Given the description of an element on the screen output the (x, y) to click on. 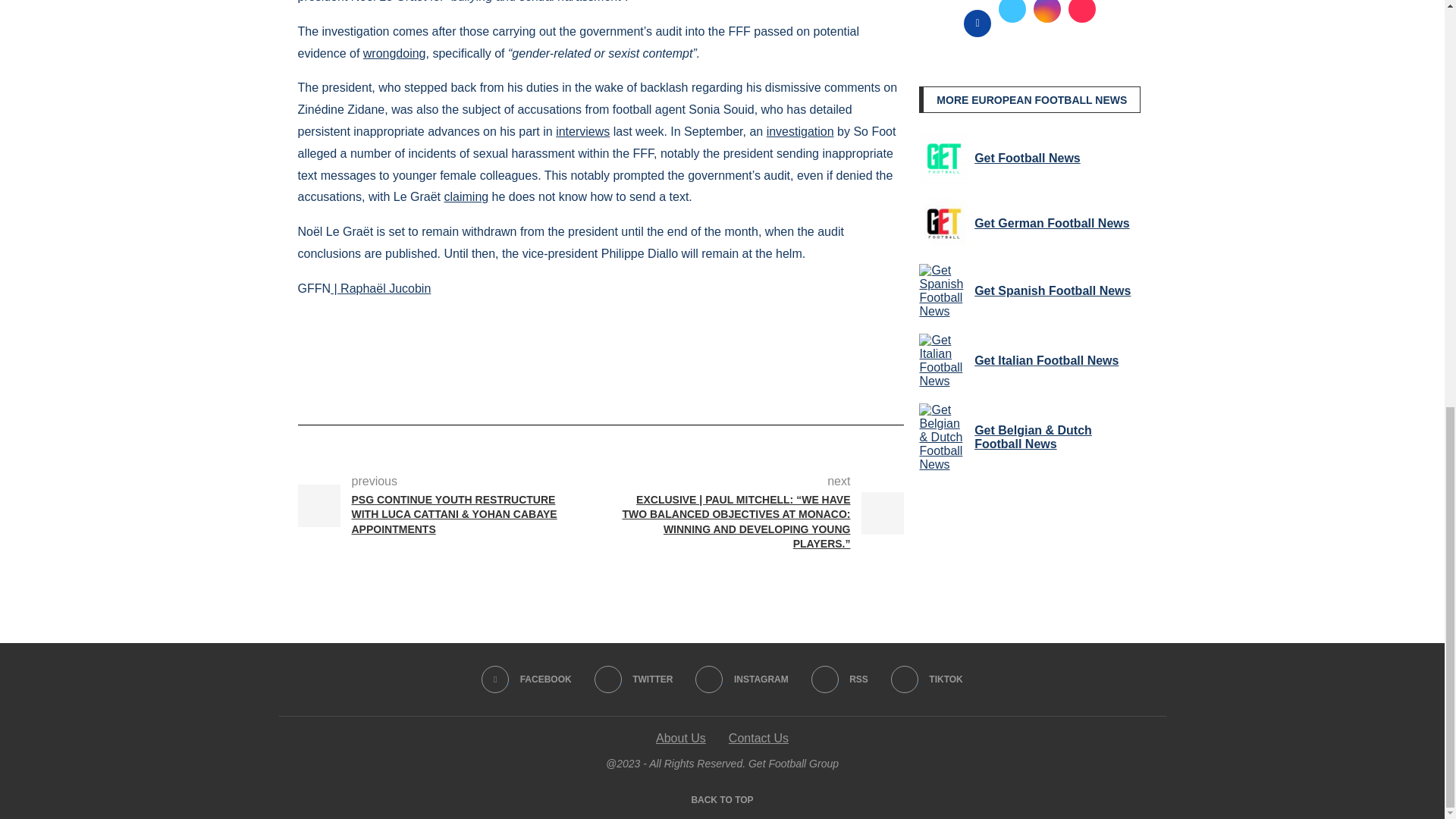
Get Italian Football News (943, 360)
Get German Football News (943, 223)
Get Football News (943, 158)
Get Spanish Football News (943, 290)
